Given the description of an element on the screen output the (x, y) to click on. 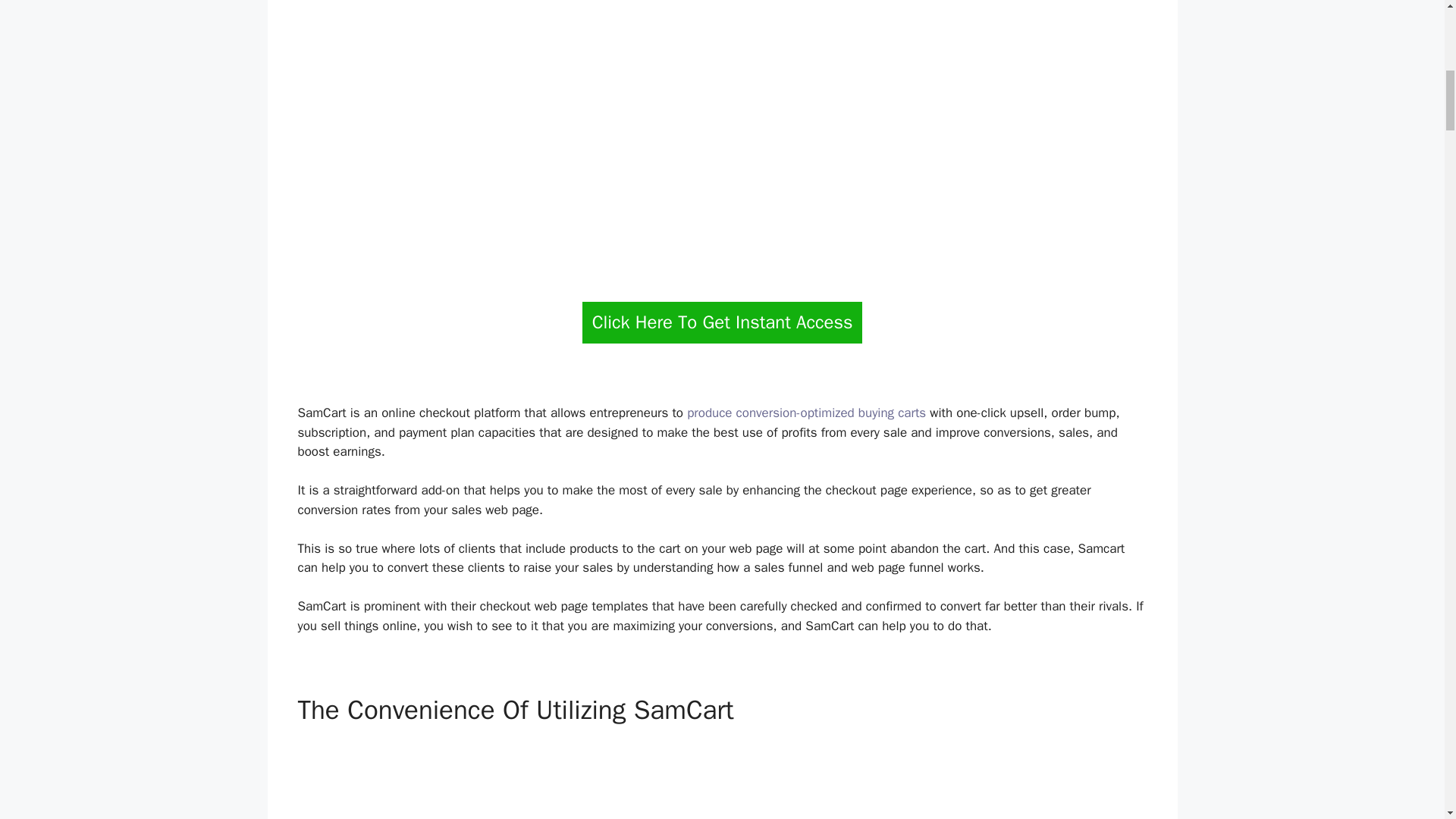
produce conversion-optimized buying carts (806, 412)
Click Here To Get Instant Access (722, 322)
